Given the description of an element on the screen output the (x, y) to click on. 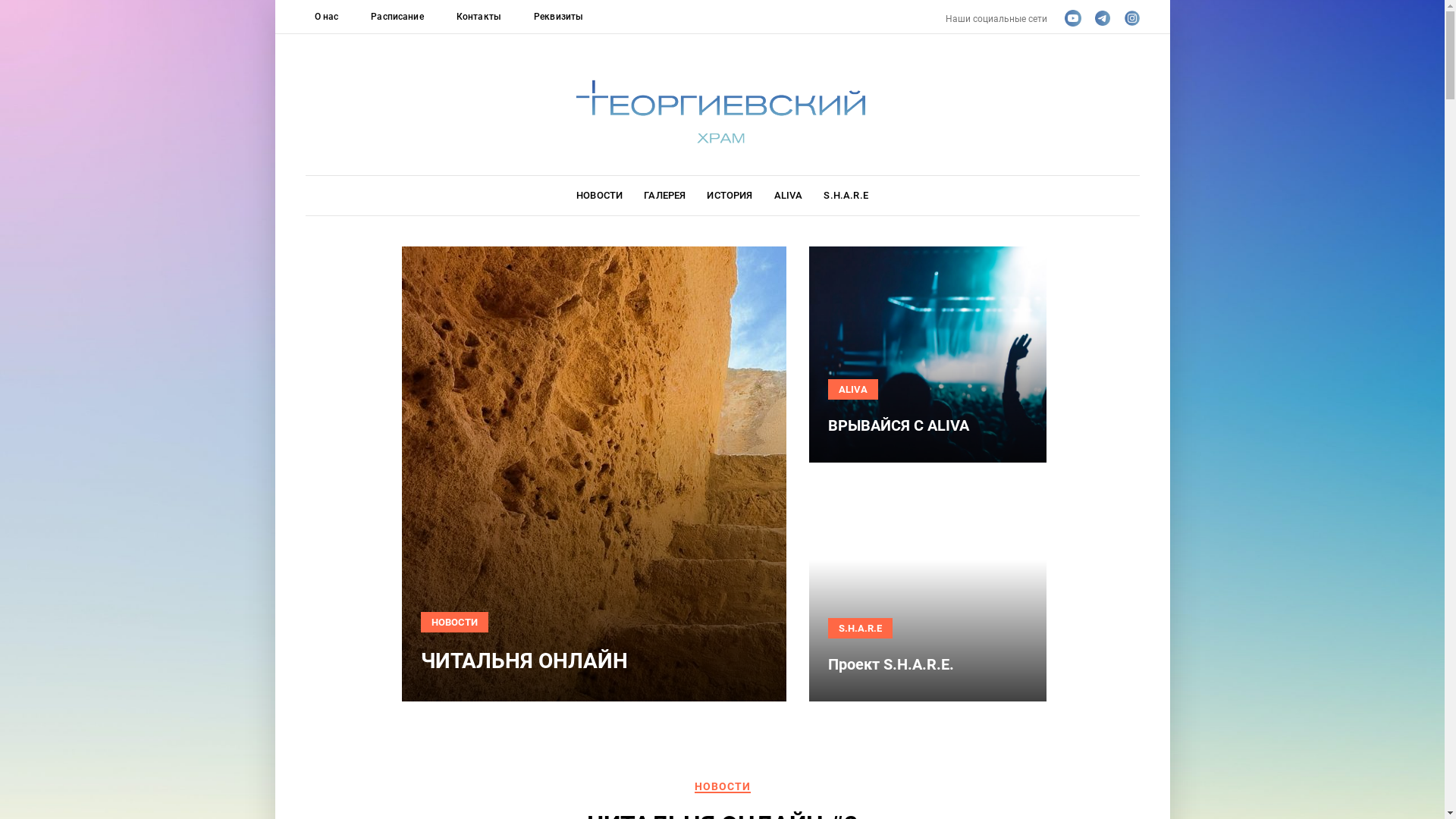
ALIVA Element type: text (853, 389)
Logo Element type: hover (721, 111)
S.H.A.R.E Element type: text (860, 628)
S.H.A.R.E Element type: text (845, 195)
ALIVA Element type: text (788, 195)
